Given the description of an element on the screen output the (x, y) to click on. 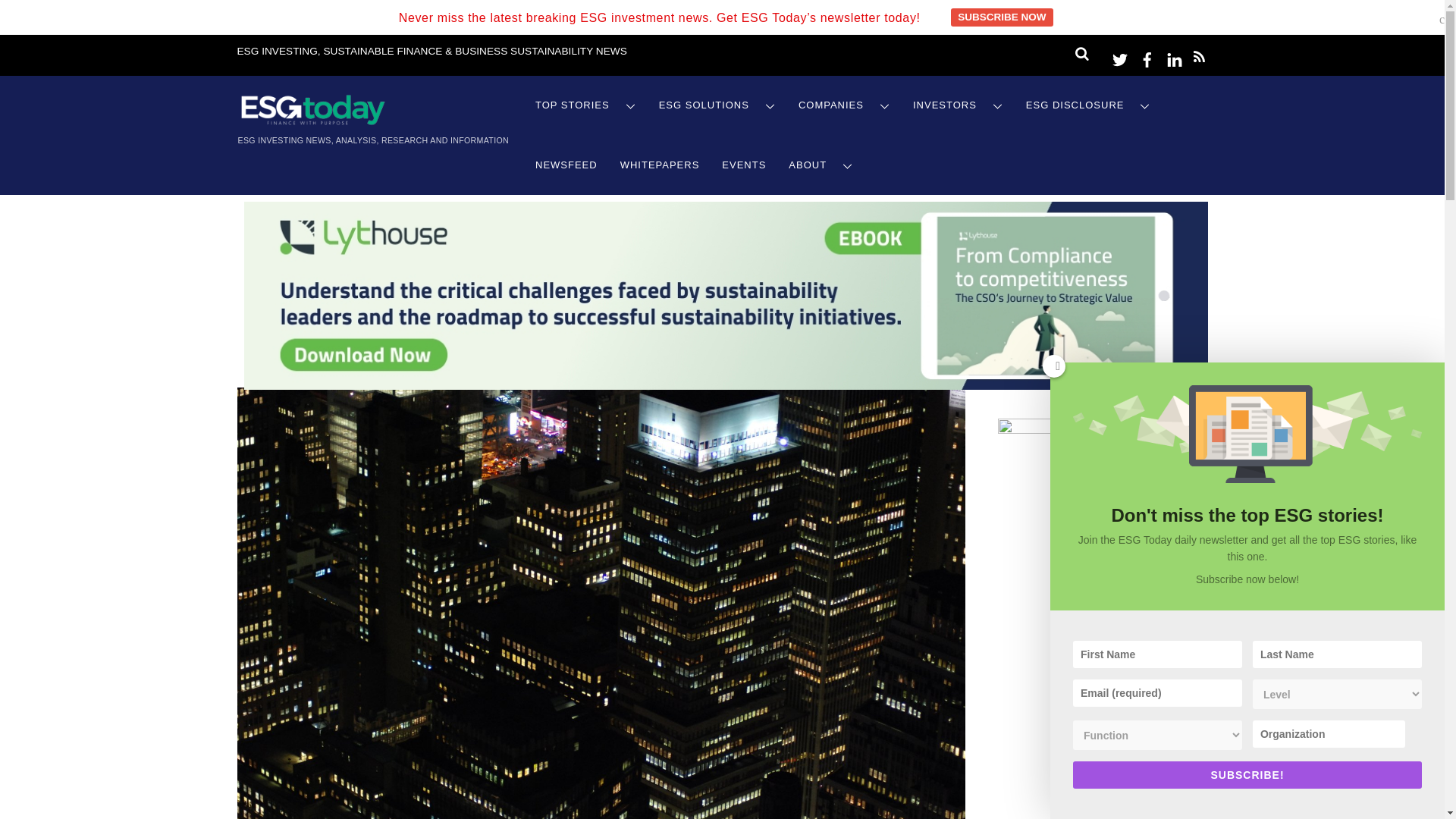
ESG Today (311, 121)
WHITEPAPERS (659, 165)
EVENTS (743, 165)
ESG SOLUTIONS (717, 105)
NEWSFEED (566, 165)
COMPANIES (844, 105)
INVESTORS (957, 105)
SUBSCRIBE NOW (1001, 17)
TOP STORIES (585, 105)
ESG DISCLOSURE (1087, 105)
ABOUT (820, 165)
